Given the description of an element on the screen output the (x, y) to click on. 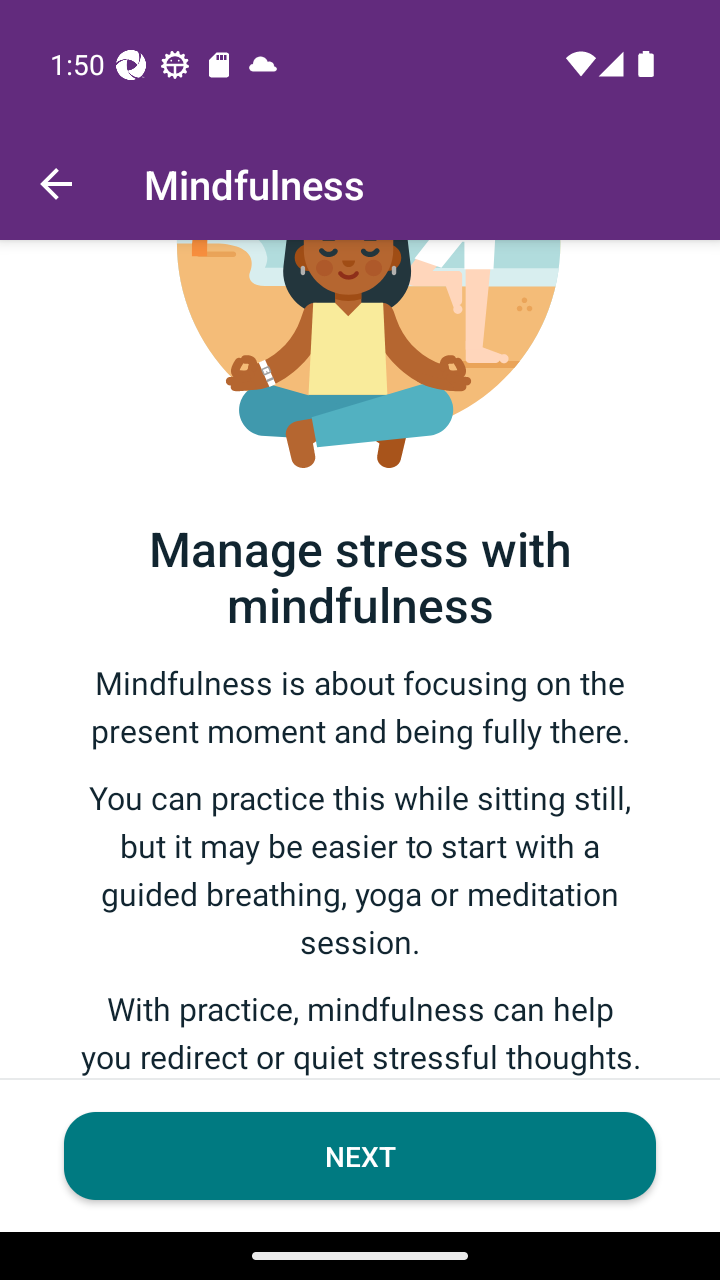
Navigate up (56, 184)
NEXT (359, 1156)
